Given the description of an element on the screen output the (x, y) to click on. 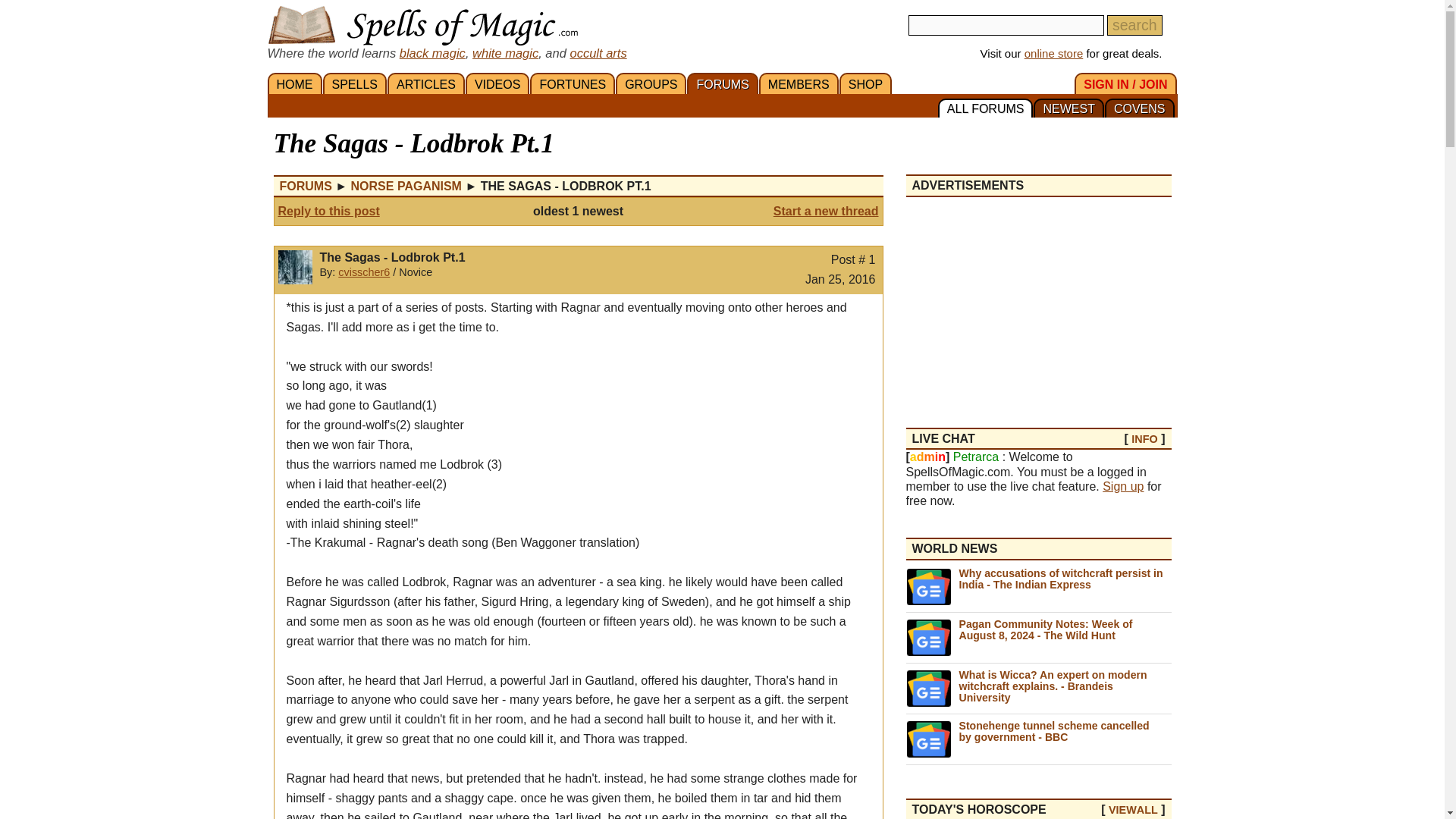
black magic (431, 52)
HOME (293, 83)
search (1133, 25)
online store (1054, 52)
white magic (504, 52)
Advertisement (1037, 303)
search (1133, 25)
SPELLS (355, 83)
occult arts (597, 52)
